Given the description of an element on the screen output the (x, y) to click on. 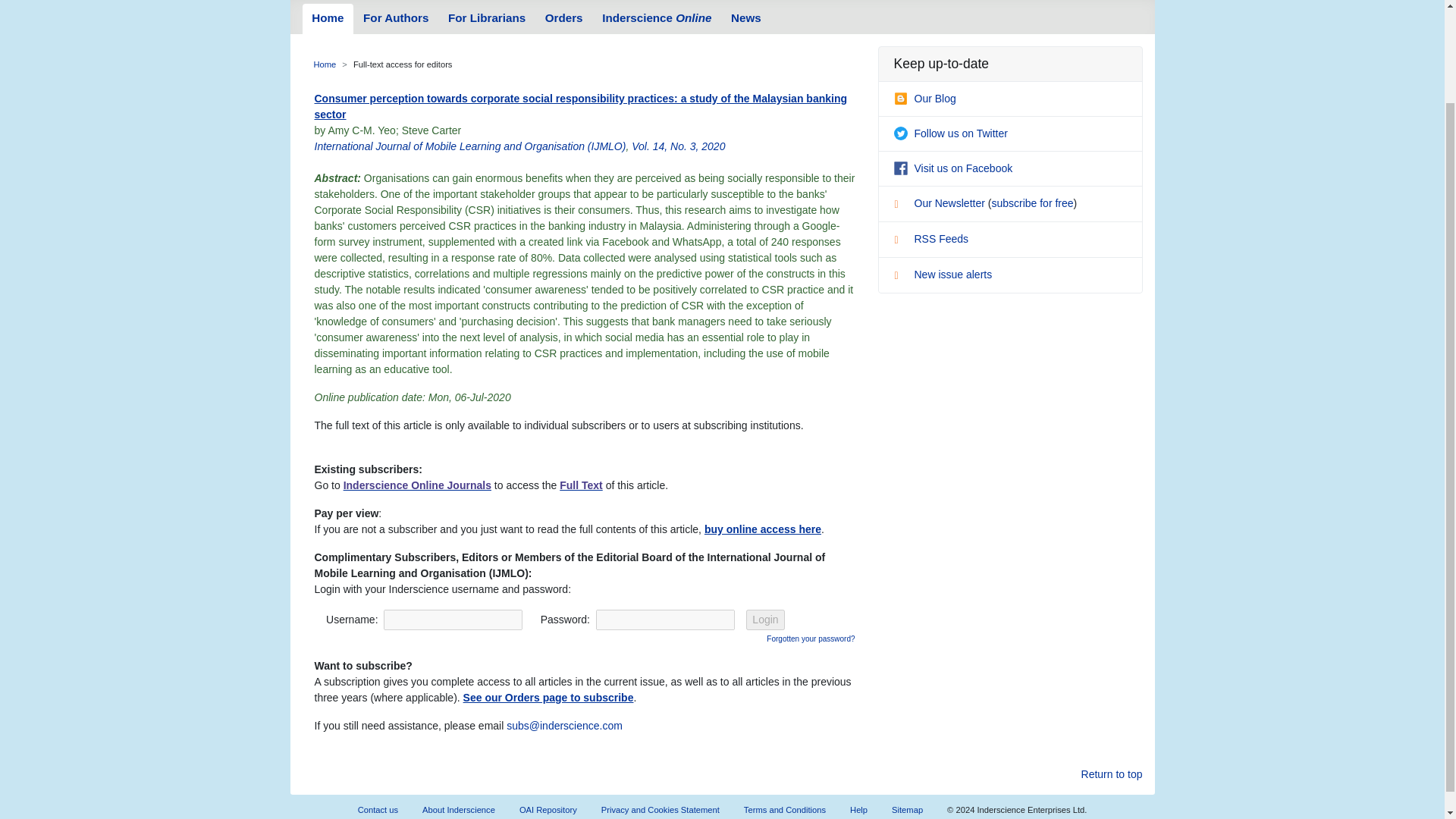
RSS (901, 241)
See our Orders page to subscribe (548, 697)
buy online access here (762, 529)
Follow us on Twitter (950, 133)
Return to the top of the page (1111, 774)
Home (325, 63)
Inderscience Online (656, 19)
New issue alerts (942, 274)
Orders (563, 19)
For Authors (395, 19)
